Given the description of an element on the screen output the (x, y) to click on. 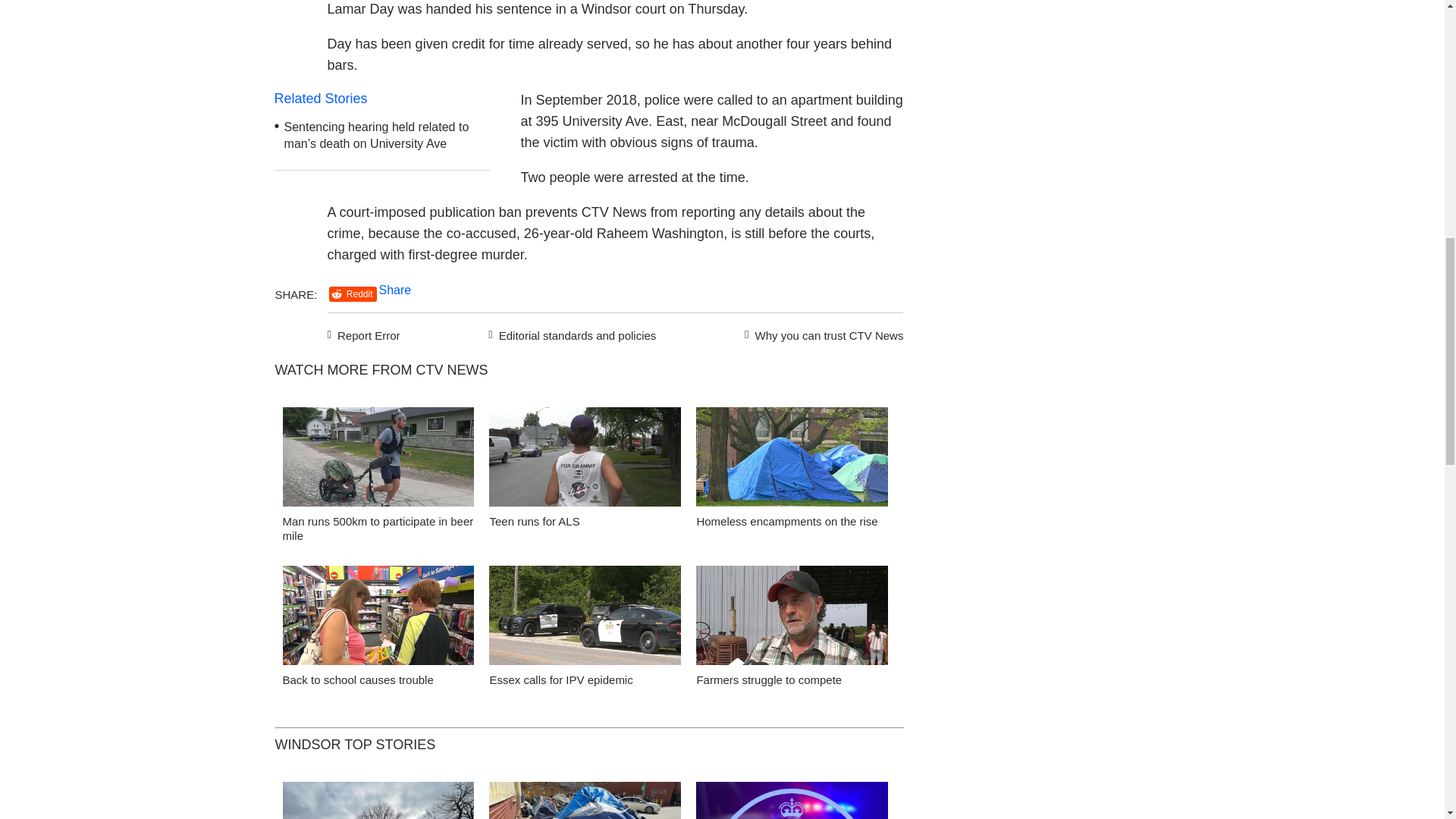
Homeless encampments on the rise (791, 461)
Essex calls for IPV epidemic  (585, 619)
Man runs 500km to participate in beer mile (378, 461)
Share (395, 289)
false (585, 456)
Editorial standards and policies (569, 333)
Reddit (353, 294)
Farmers struggle to compete (791, 619)
Back to school causes trouble (357, 679)
Report Error (363, 333)
